Given the description of an element on the screen output the (x, y) to click on. 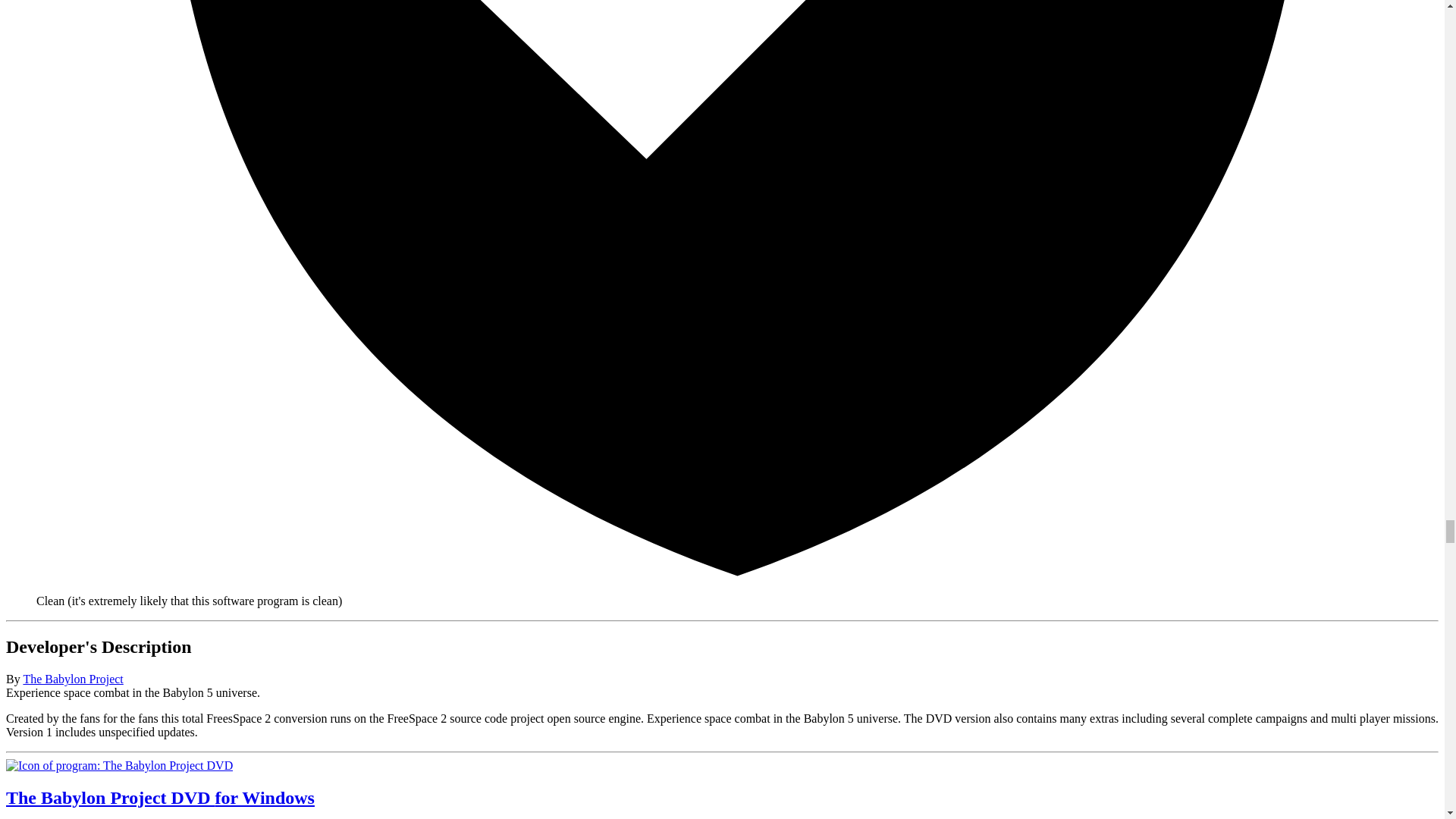
The Babylon Project DVD for Windows (118, 765)
